Given the description of an element on the screen output the (x, y) to click on. 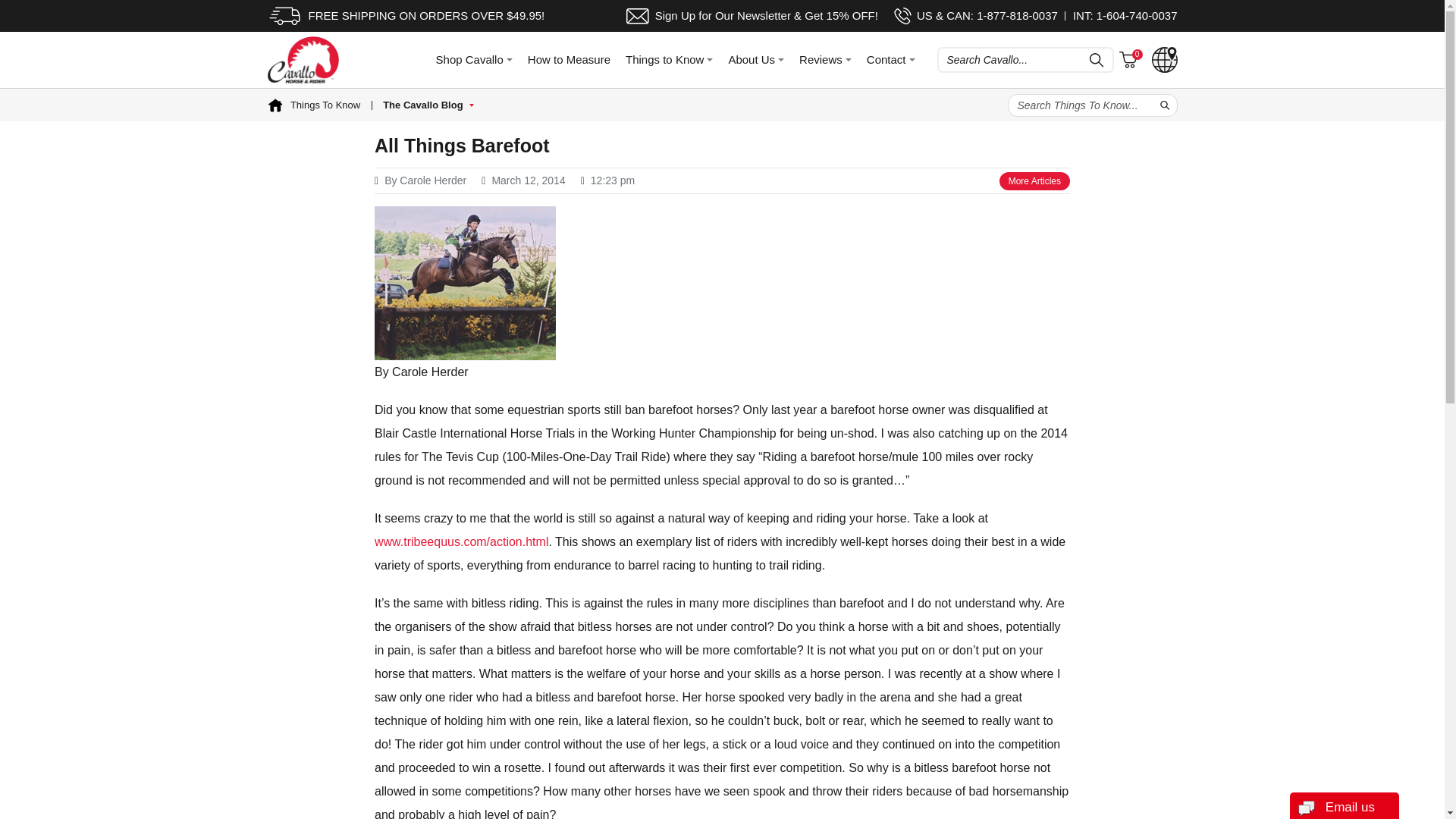
INT: 1-604-740-0037 (1125, 15)
Shop Cavallo (473, 59)
How to Measure (568, 59)
Email us (1343, 805)
